Given the description of an element on the screen output the (x, y) to click on. 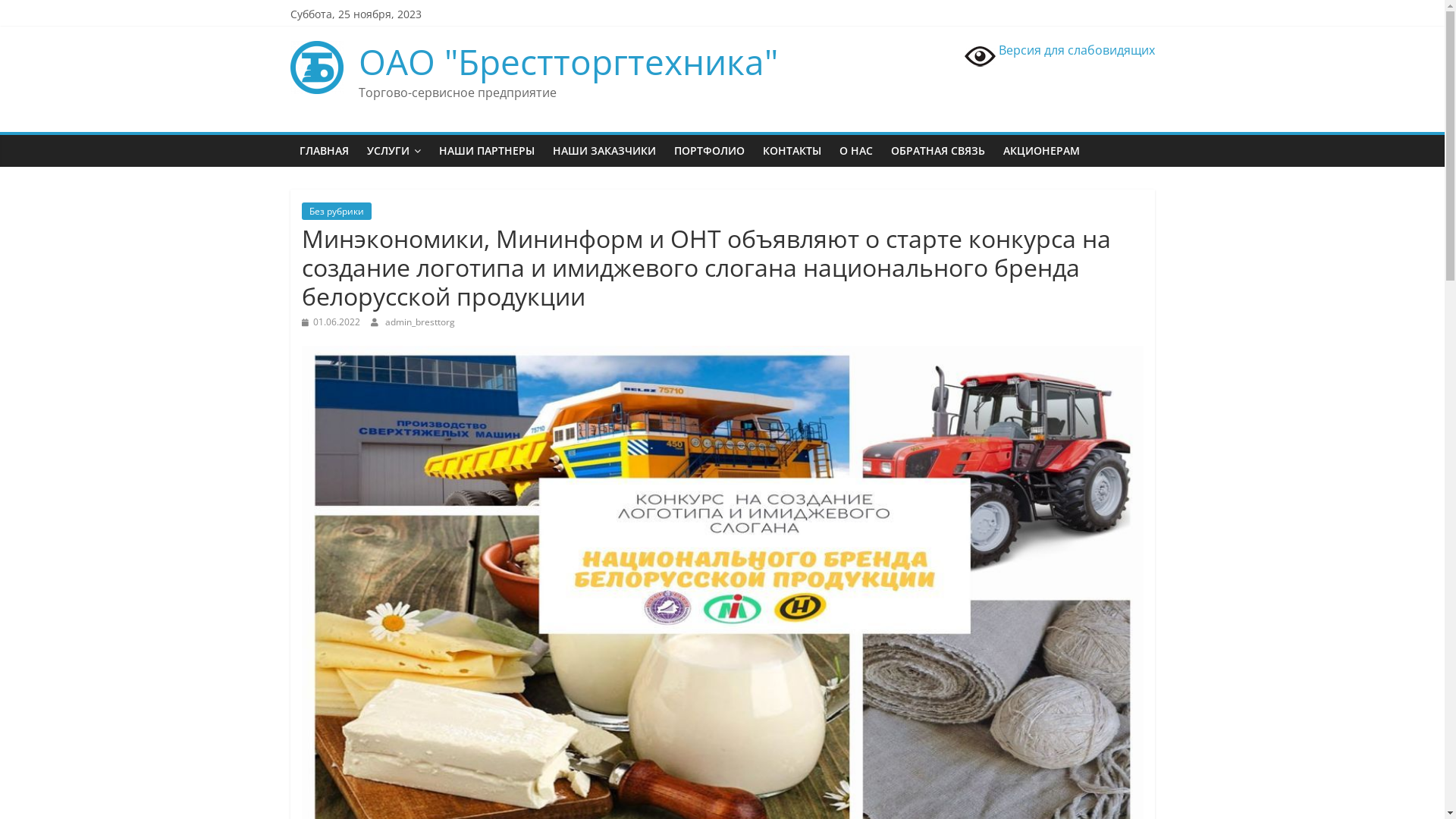
admin_bresttorg Element type: text (420, 321)
01.06.2022 Element type: text (330, 321)
